Given the description of an element on the screen output the (x, y) to click on. 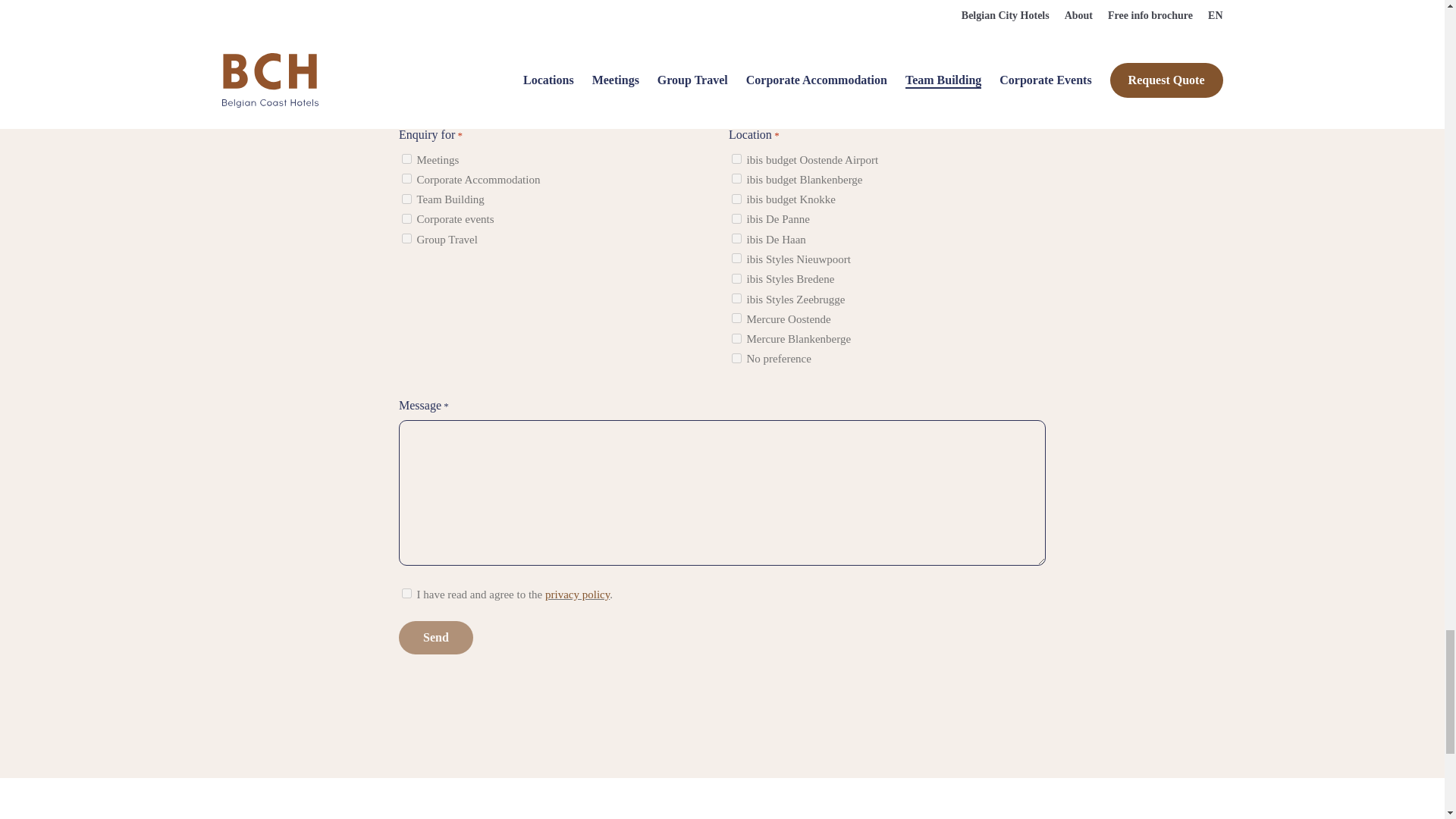
Group Travel (406, 238)
Corporate Accommodation (406, 178)
mercure-oostende (736, 317)
Team Building (406, 198)
Corporate events (406, 218)
ibis-budget-knokke (736, 198)
ibis-de-haan (736, 238)
ibis-de-panne (736, 218)
ibis-styles-nieuwpoort (736, 257)
ibis-budget-oostende (736, 158)
